Given the description of an element on the screen output the (x, y) to click on. 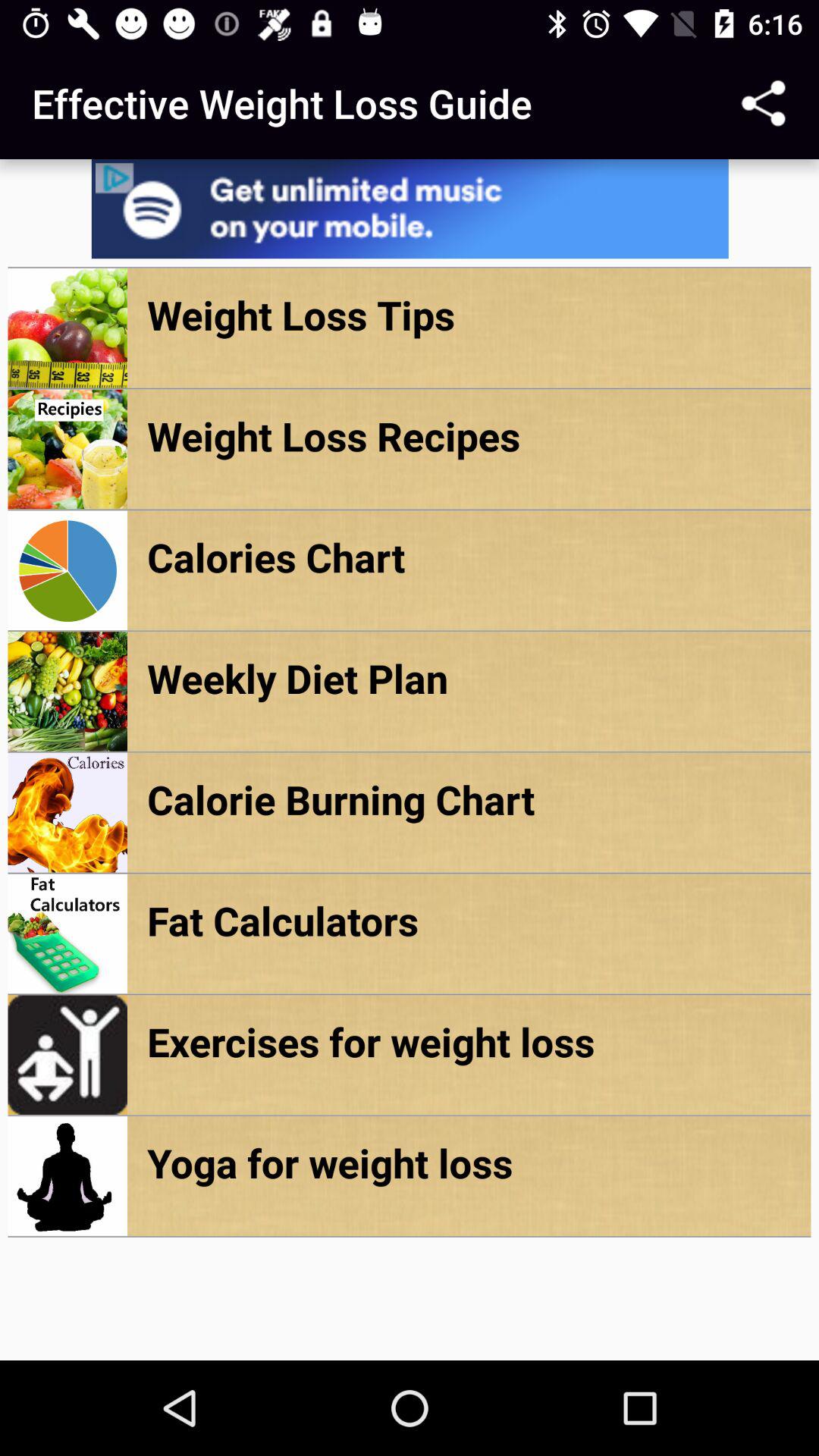
move to the the top right icon (763, 103)
click on the image beside yoga for weight loss (67, 1176)
click on the image beside calories chart (67, 570)
select the image which is to the left of calorie burning chart (67, 812)
